Given the description of an element on the screen output the (x, y) to click on. 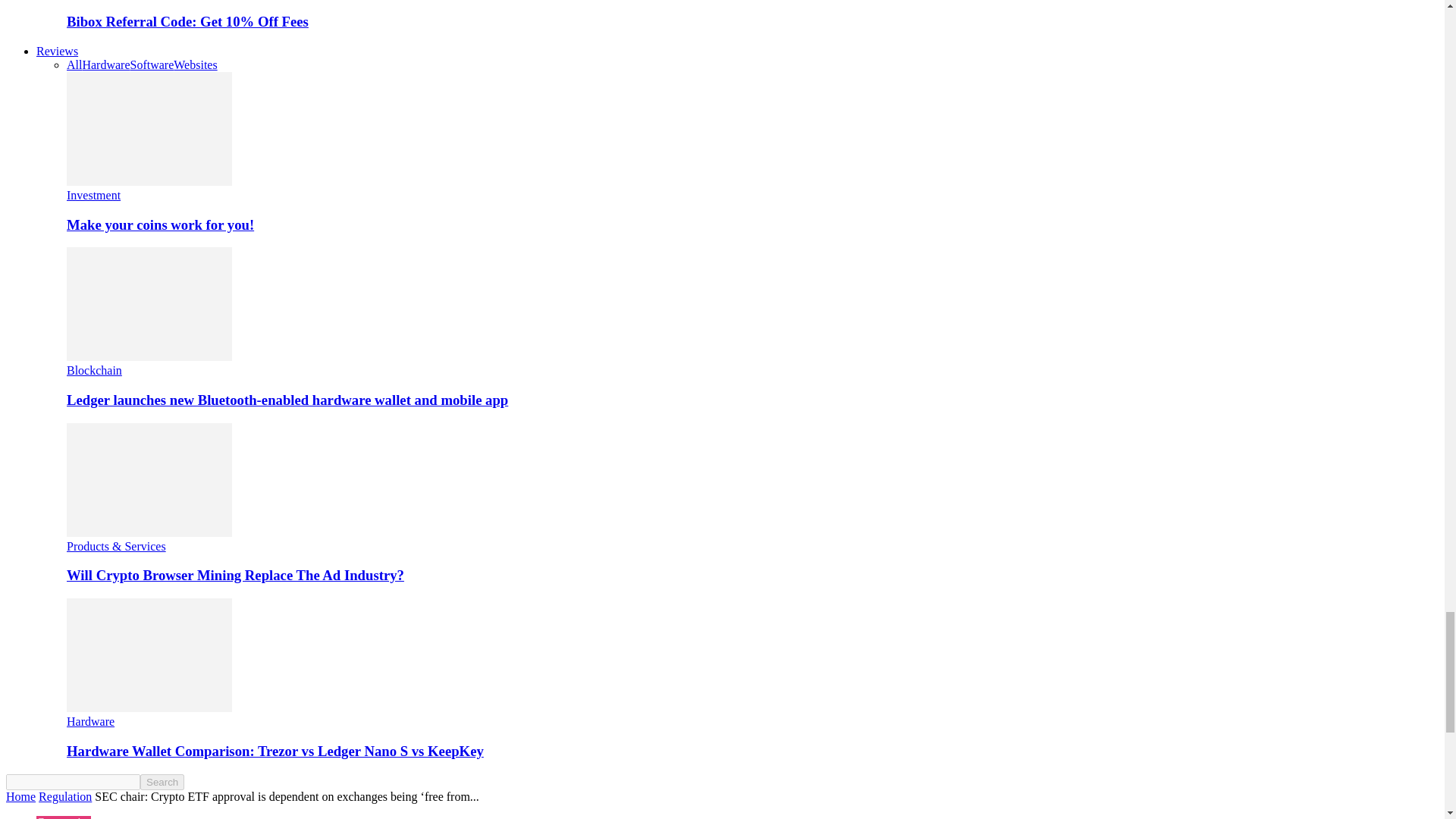
Search (161, 781)
